Given the description of an element on the screen output the (x, y) to click on. 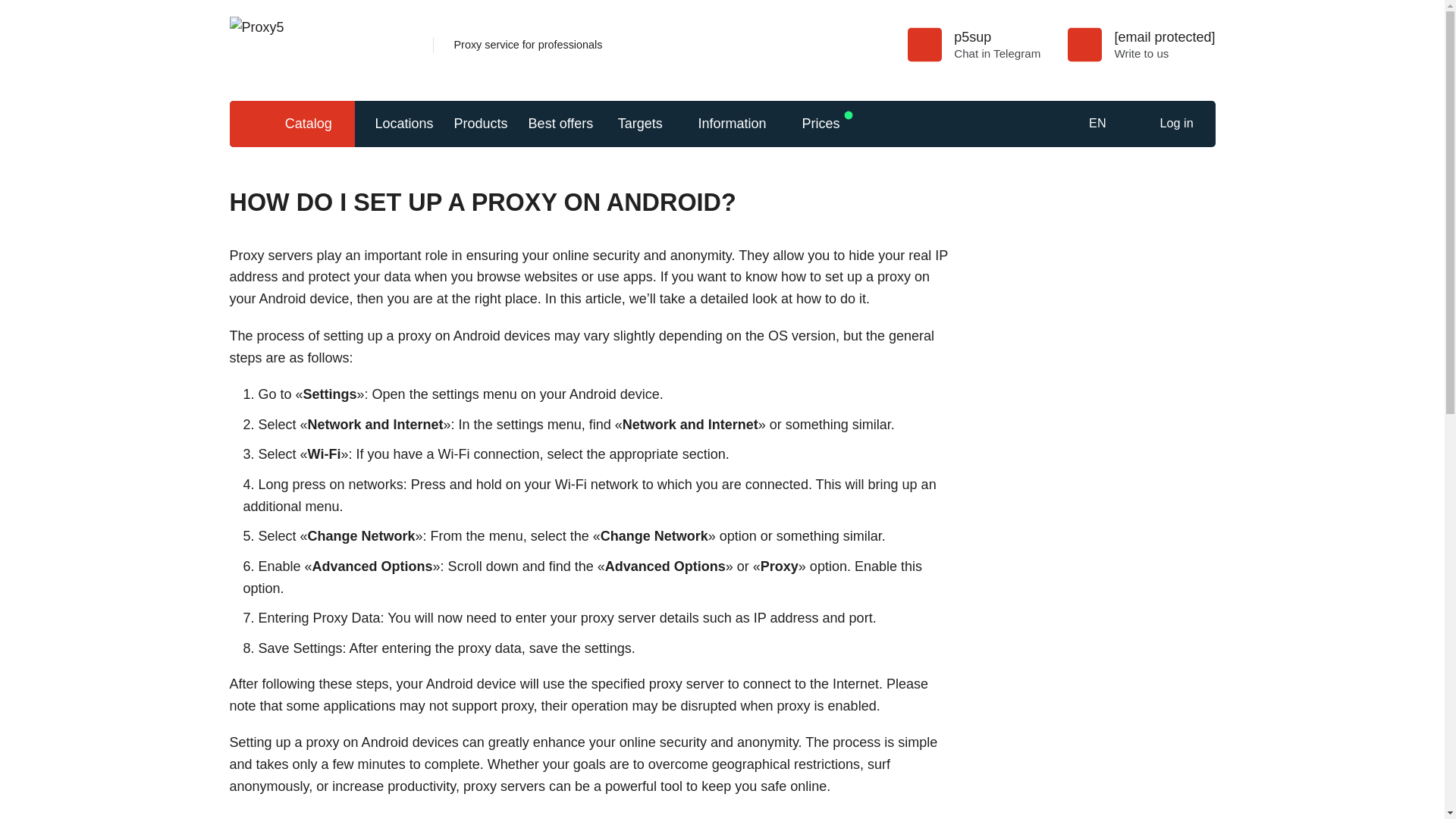
Catalog (290, 123)
Best offers (561, 123)
p5sup (997, 36)
Products (481, 123)
Locations (403, 123)
